Given the description of an element on the screen output the (x, y) to click on. 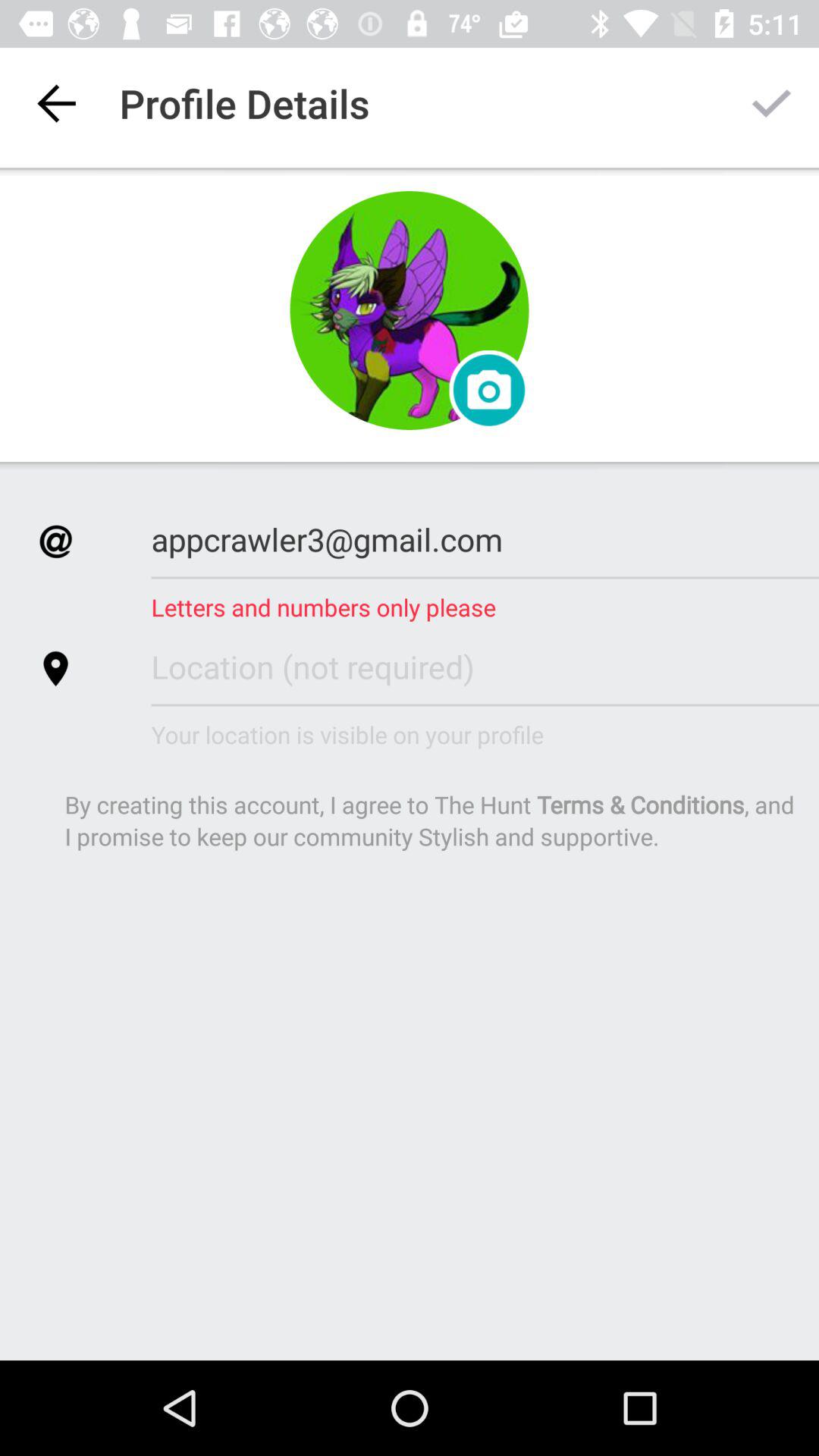
change profile picture (488, 389)
